Given the description of an element on the screen output the (x, y) to click on. 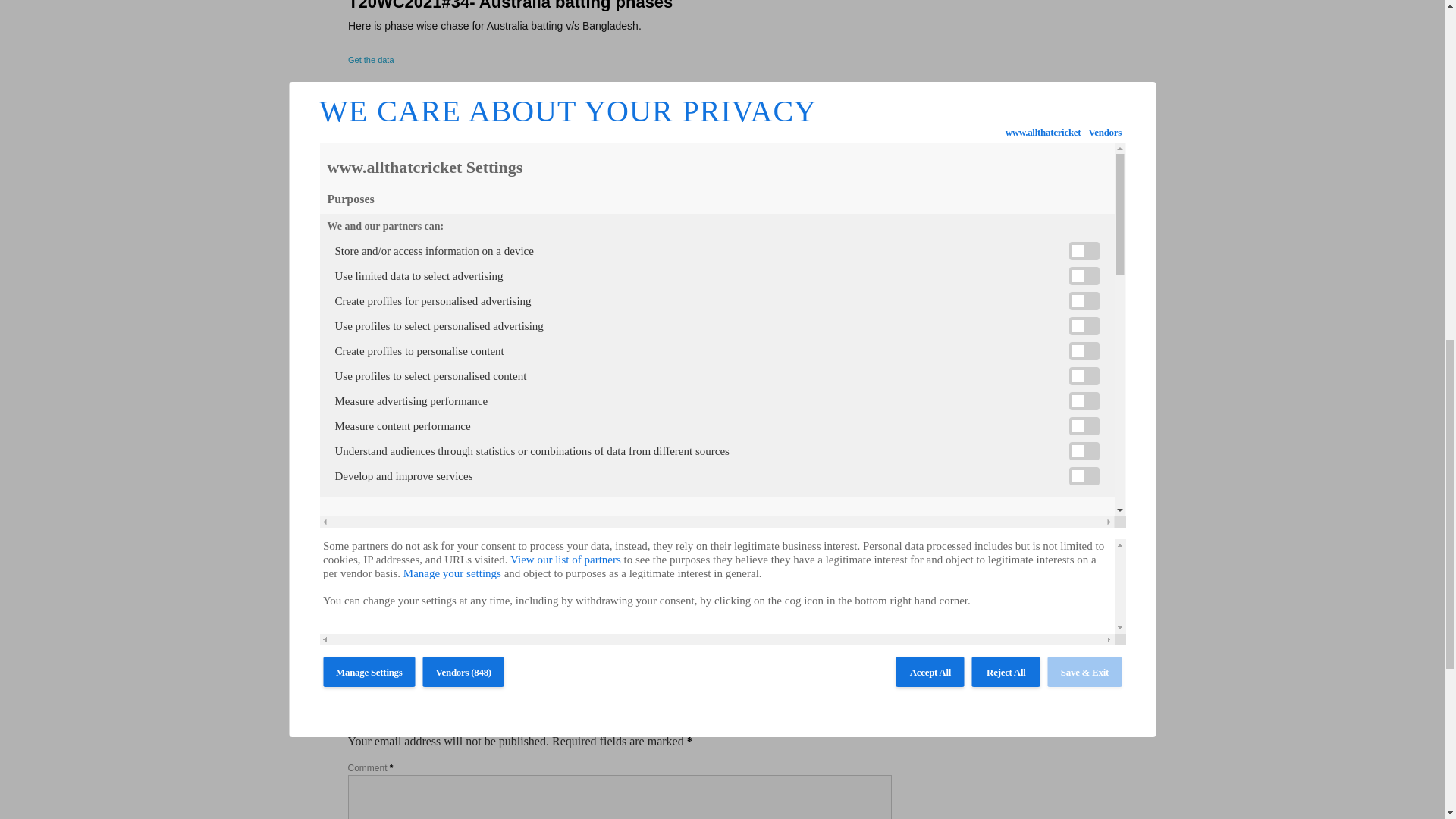
Facebook (356, 591)
WhatsApp (410, 591)
WhatsApp (410, 591)
Leave your comment (386, 638)
Twitter (374, 591)
LinkedIn (392, 591)
Facebook (356, 591)
LinkedIn (392, 591)
Twitter (374, 591)
